Given the description of an element on the screen output the (x, y) to click on. 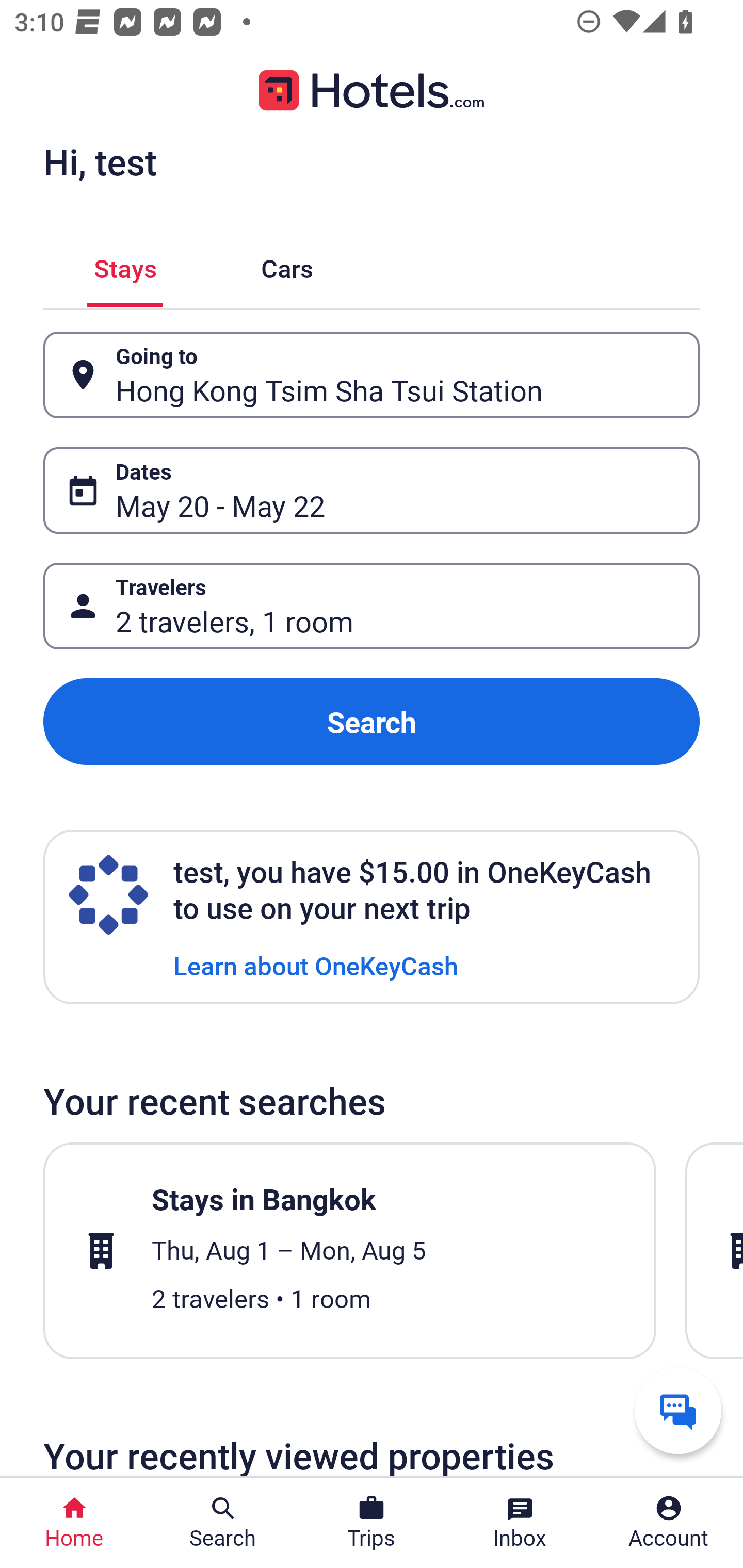
Hi, test (99, 161)
Cars (286, 265)
Going to Button Hong Kong Tsim Sha Tsui Station (371, 375)
Dates Button May 20 - May 22 (371, 489)
Travelers Button 2 travelers, 1 room (371, 605)
Search (371, 721)
Learn about OneKeyCash Learn about OneKeyCash Link (315, 964)
Get help from a virtual agent (677, 1410)
Search Search Button (222, 1522)
Trips Trips Button (371, 1522)
Inbox Inbox Button (519, 1522)
Account Profile. Button (668, 1522)
